Given the description of an element on the screen output the (x, y) to click on. 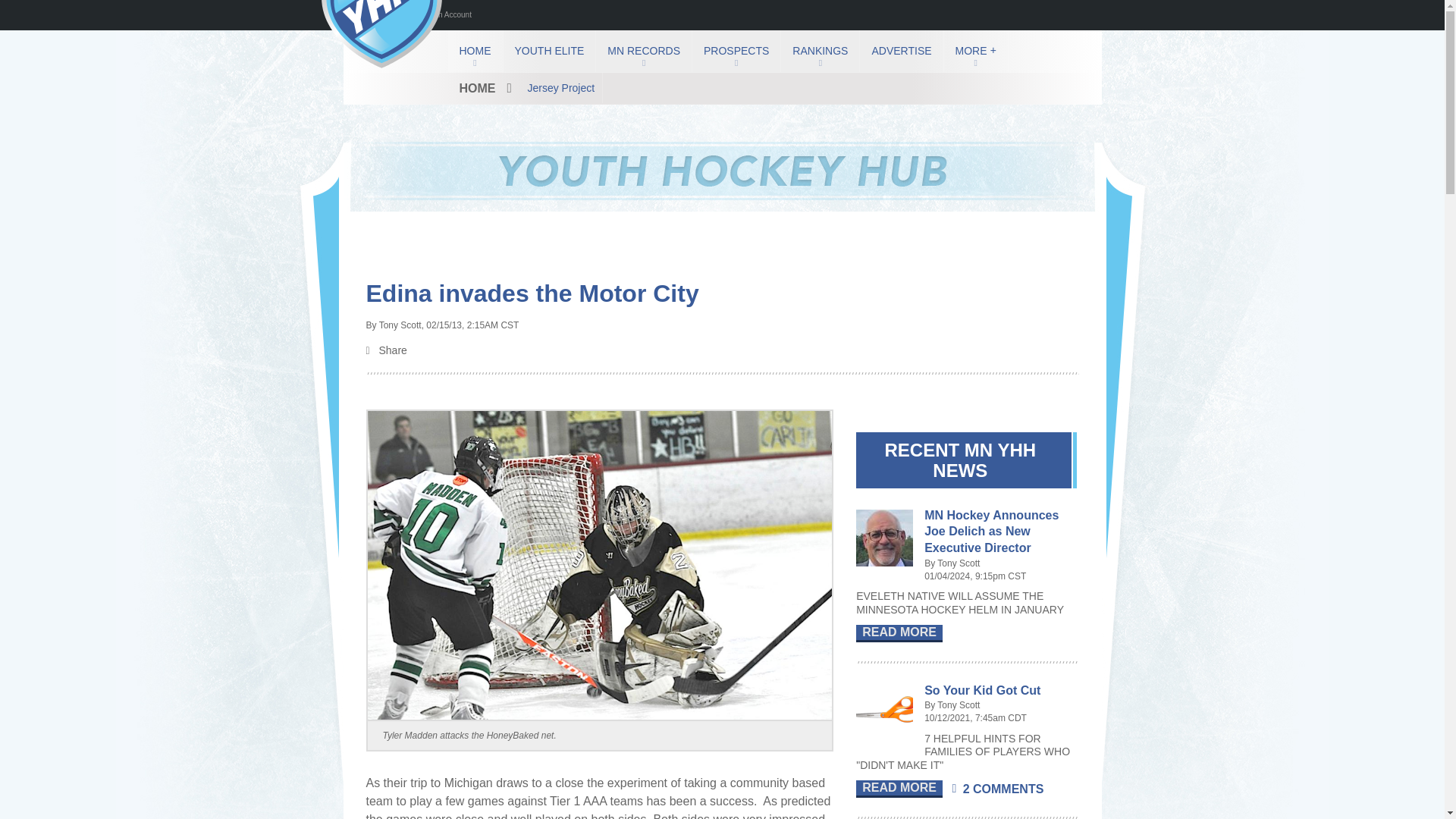
Jersey Project (560, 87)
YOUTH ELITE (549, 51)
So Your Kid Got Cut (982, 689)
READ MORE (899, 633)
Login (379, 15)
Create an Account (440, 15)
2 Comments (997, 787)
Create an Account (440, 15)
click to go to 'Advertise' (901, 51)
click to go to 'Youth Hockey Hub NOW Rankings' (819, 51)
click to go to 'Youth Hockey Hub' (474, 51)
MN RECORDS (643, 51)
HOME (474, 51)
click to go to 'MN Records' (643, 51)
MORE (975, 51)
